Given the description of an element on the screen output the (x, y) to click on. 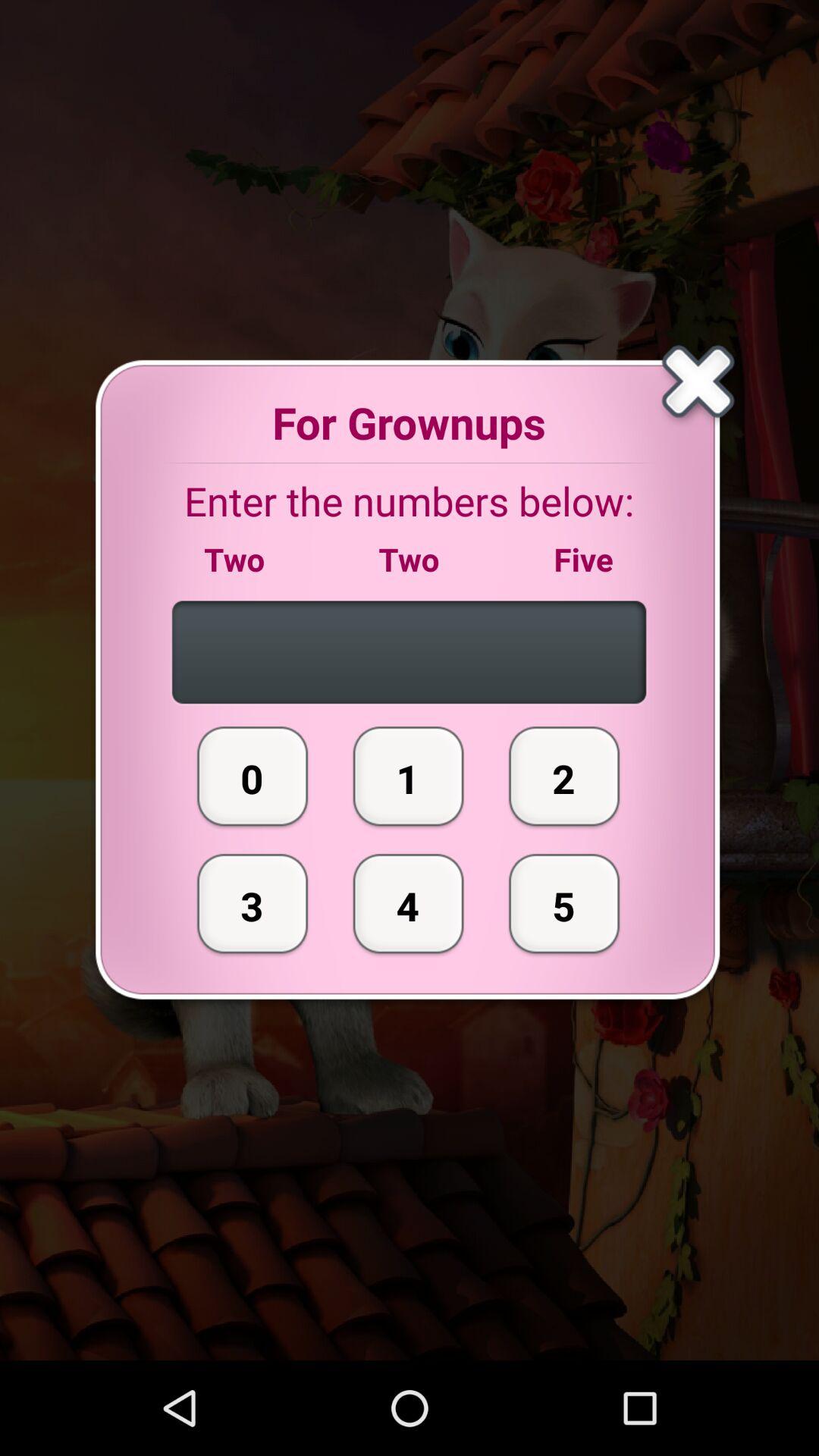
jump until the 4 button (408, 903)
